Given the description of an element on the screen output the (x, y) to click on. 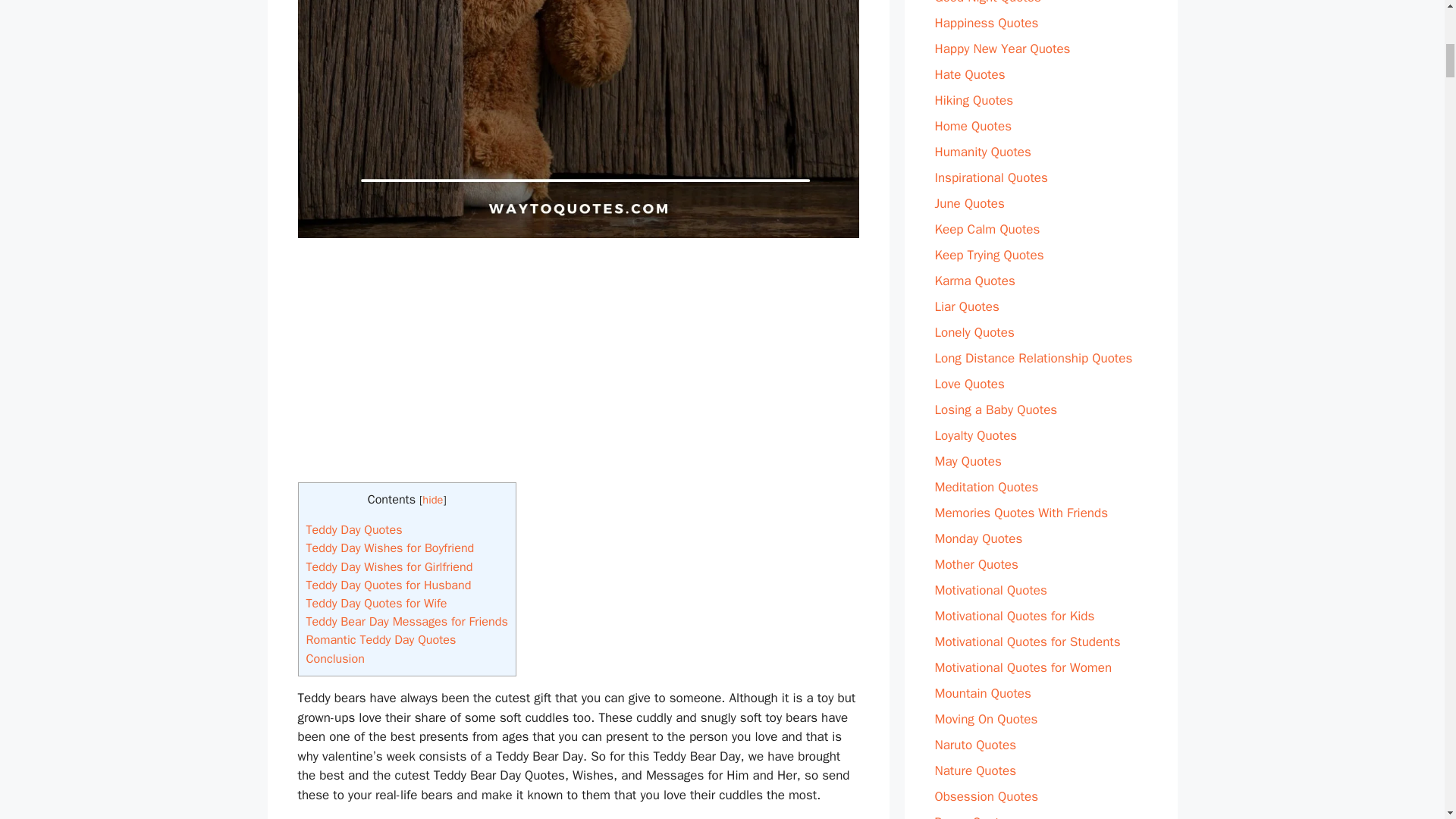
Advertisement (578, 369)
Teddy Day Quotes (354, 529)
Teddy Bear Day Messages for Friends (406, 621)
Teddy Day Wishes for Girlfriend (389, 566)
Teddy Day Wishes for Boyfriend (389, 547)
Romantic Teddy Day Quotes (381, 639)
Teddy Day Quotes for Wife (375, 602)
Scroll back to top (1406, 720)
Teddy Day Quotes for Husband (388, 584)
hide (432, 499)
